Given the description of an element on the screen output the (x, y) to click on. 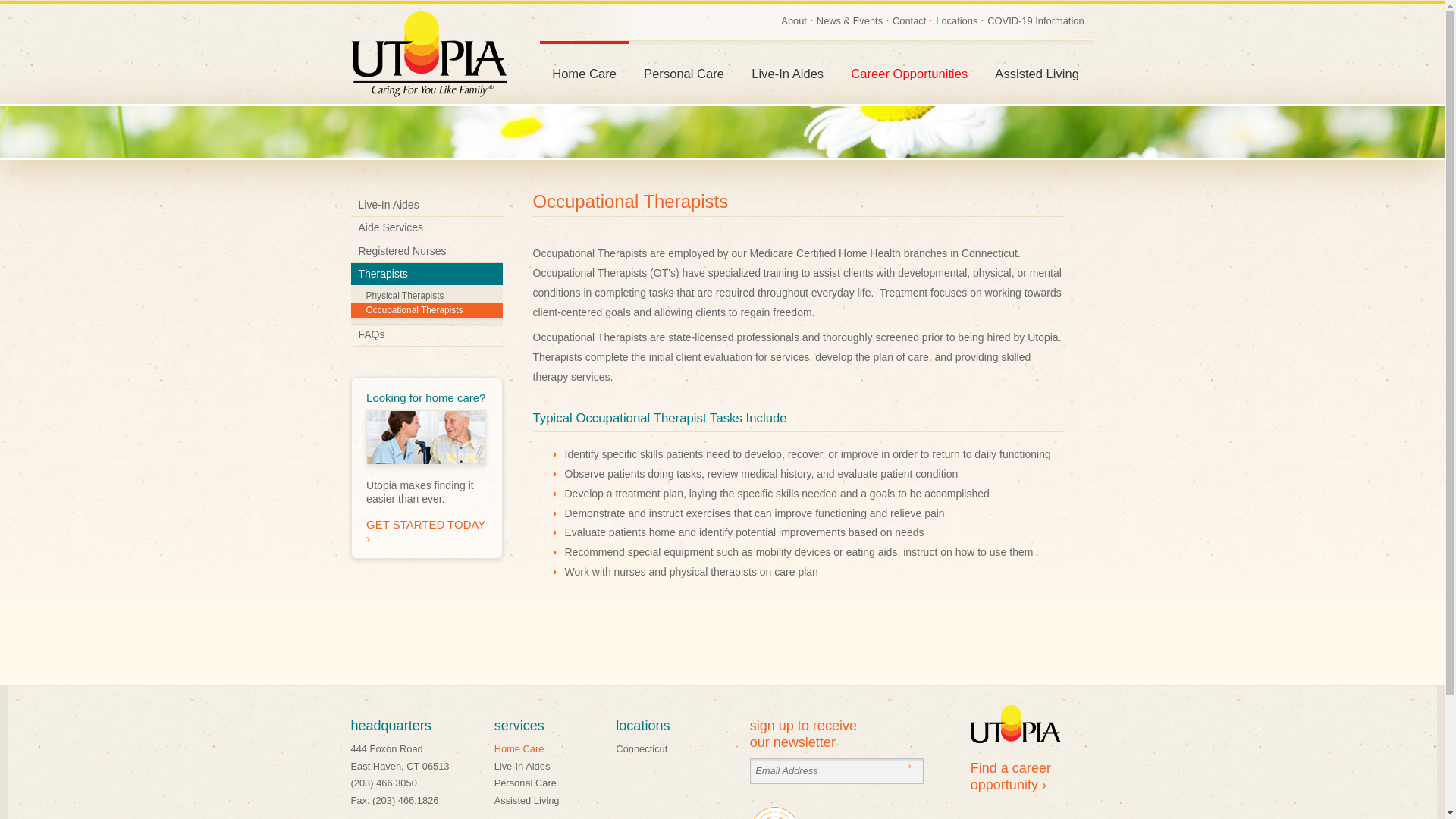
Personal Care (525, 782)
Career Opportunities (908, 72)
About (793, 20)
Live-In Aides (787, 72)
Aide Services (426, 228)
Contact (909, 20)
Locations (956, 20)
Home Care (519, 748)
Personal Care (683, 72)
Registered Nurses (426, 251)
Live-In Aides (522, 766)
Occupational Therapists (426, 310)
Assisted Living (1037, 72)
Live-In Aides (426, 205)
Assisted Living (527, 799)
